Given the description of an element on the screen output the (x, y) to click on. 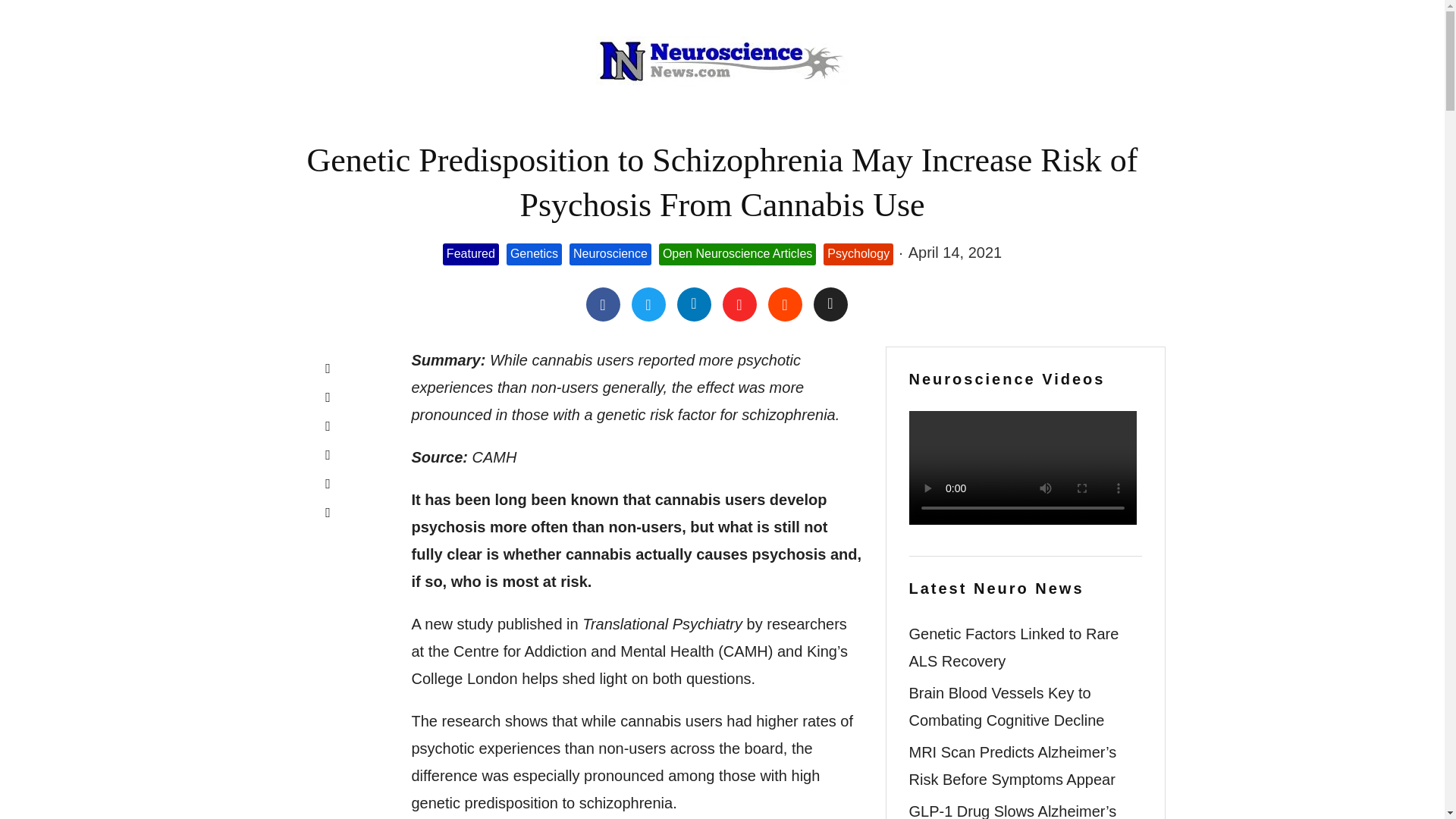
Neuroscience (609, 254)
Open Neuroscience Articles (737, 254)
Genetics (534, 254)
Psychology (858, 254)
Featured (470, 254)
